Given the description of an element on the screen output the (x, y) to click on. 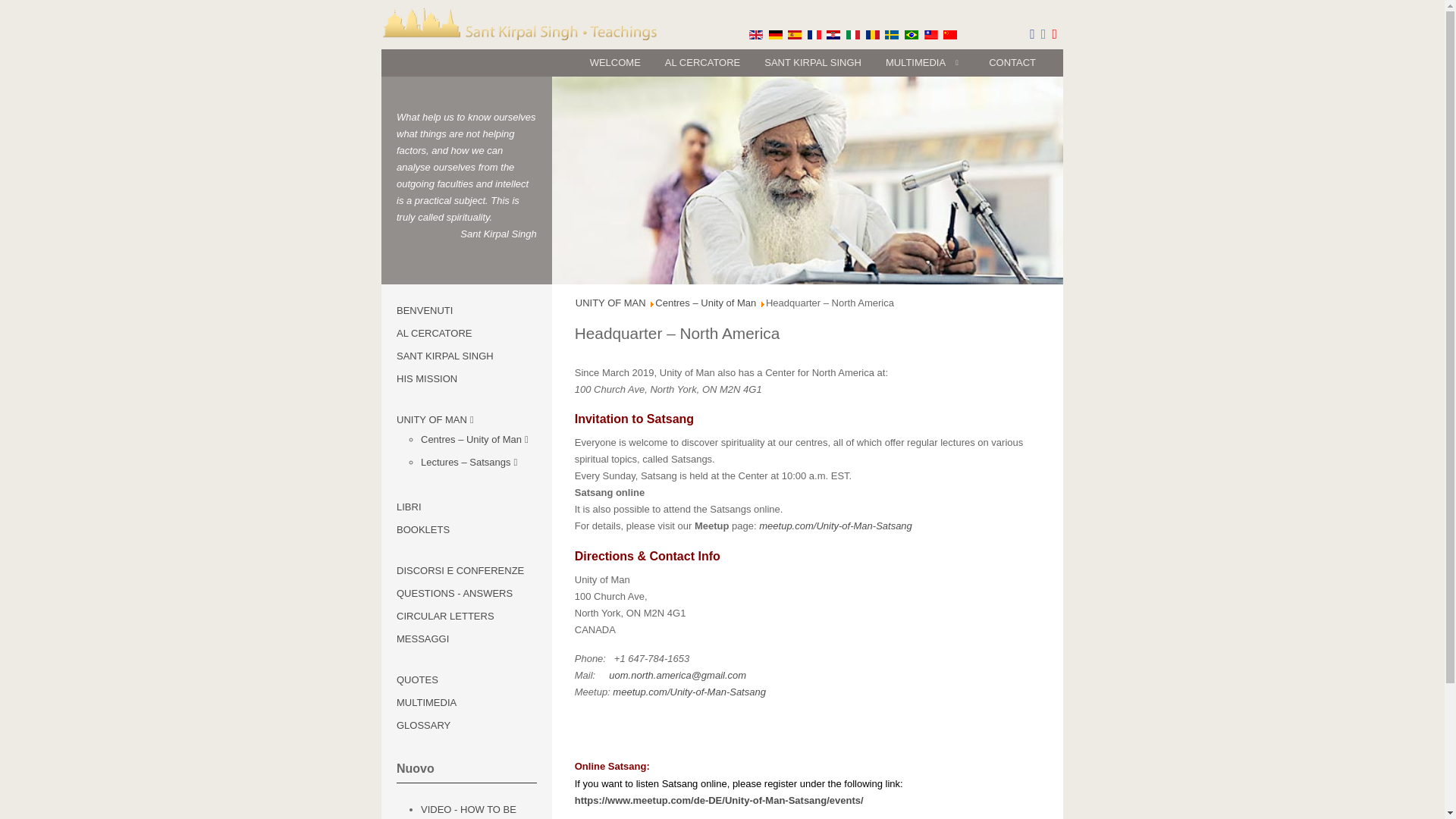
SANT KIRPAL SINGH (812, 62)
MULTIMEDIA (924, 62)
Hrvatski (833, 34)
Deutsch (775, 34)
French (814, 34)
CONTACT (1012, 62)
English  (755, 34)
Svenska (891, 34)
WELCOME (615, 62)
Italiano (852, 34)
AL CERCATORE (702, 62)
